Given the description of an element on the screen output the (x, y) to click on. 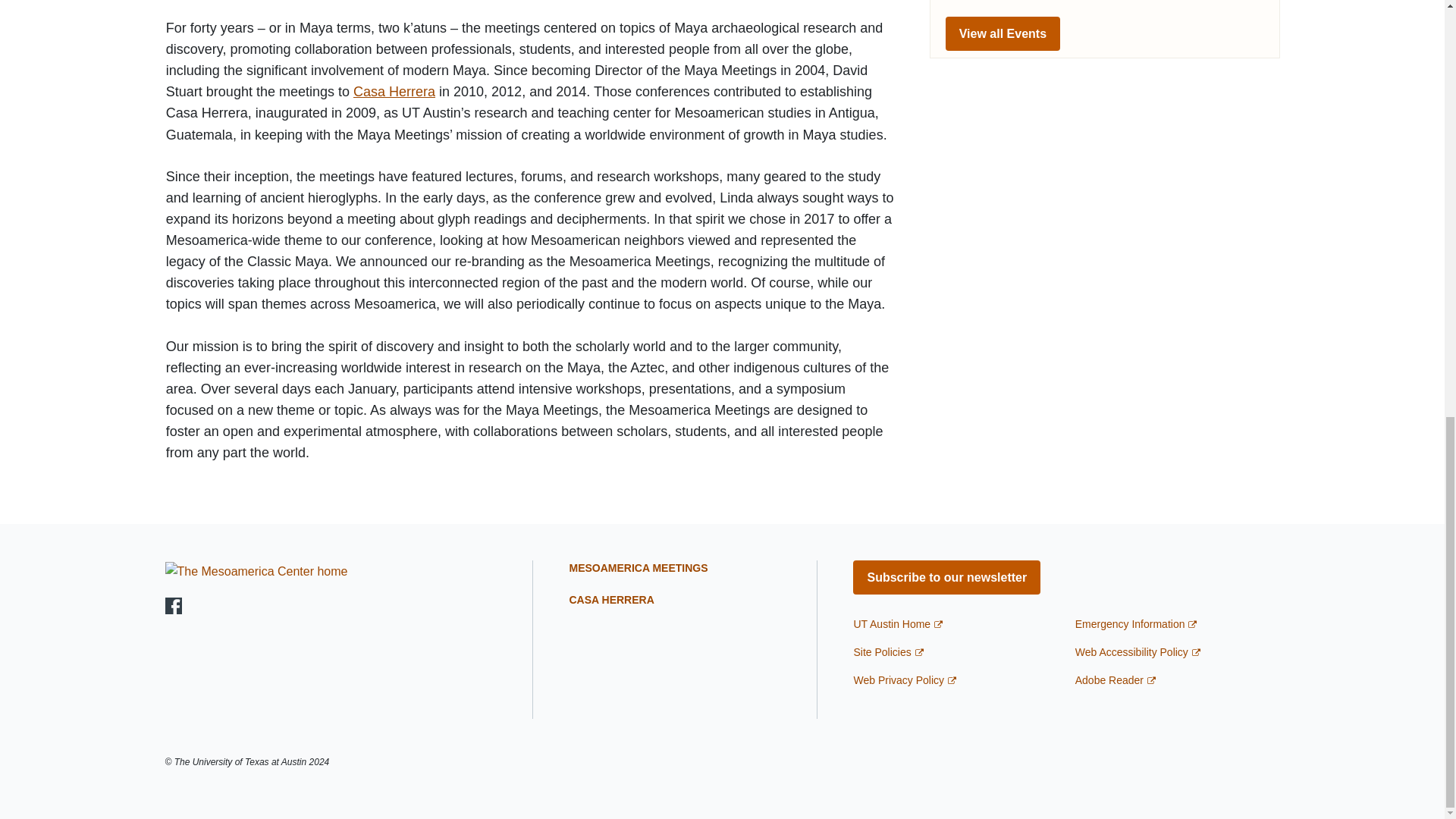
Subscribe to our newsletter (947, 577)
Home (256, 569)
MESOAMERICA MEETINGS (638, 567)
FacebookFind us on Facebook (173, 605)
FacebookFind us on Facebook (173, 604)
CASA HERRERA (611, 599)
UT Austin Home (897, 623)
Casa Herrera (394, 91)
Emergency Information (1135, 623)
Web Accessibility Policy (1137, 652)
